Given the description of an element on the screen output the (x, y) to click on. 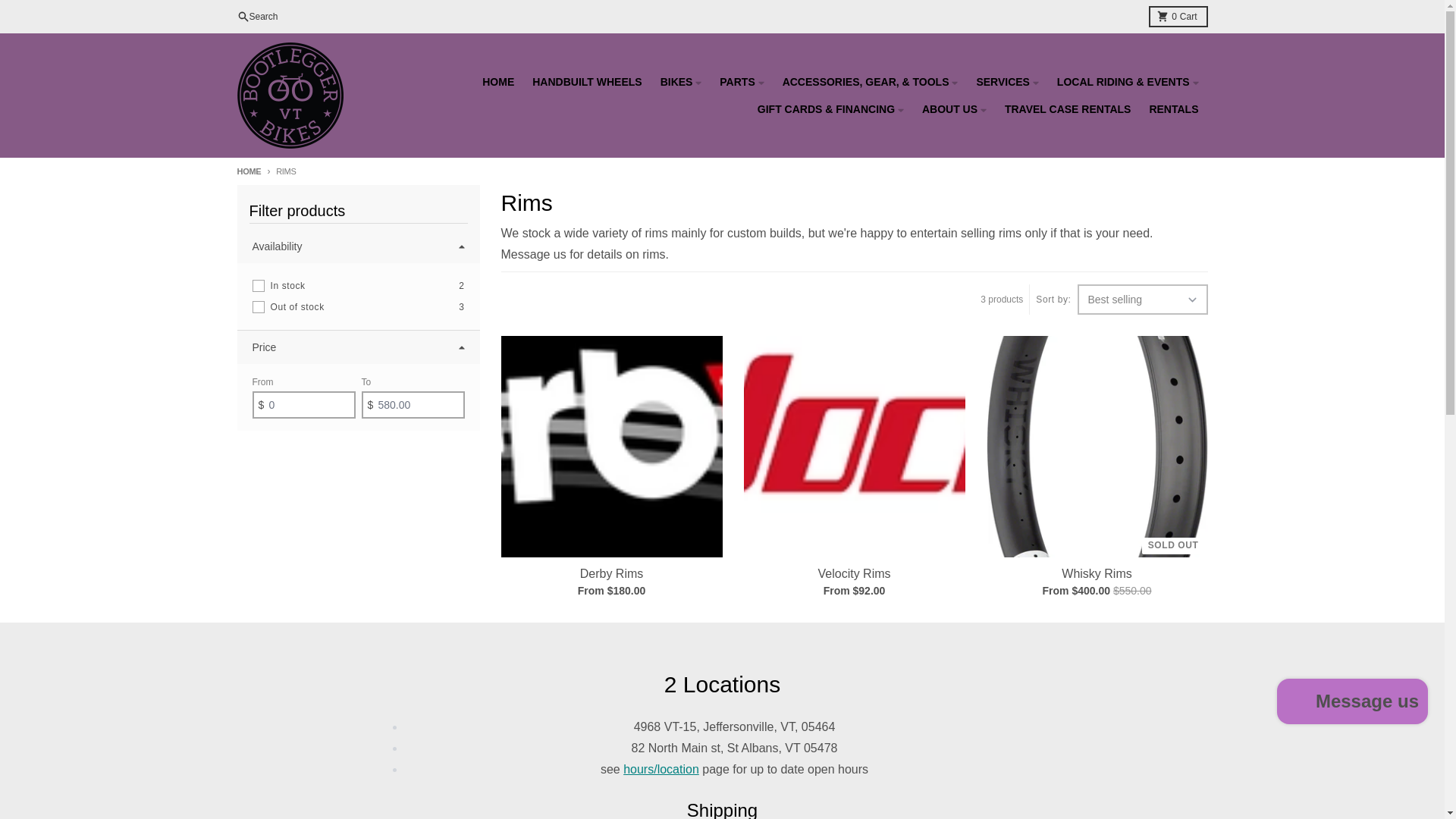
1 (257, 285)
Shopify online store chat (1352, 703)
Back to the homepage (247, 171)
0 (257, 306)
Search (1177, 16)
